Given the description of an element on the screen output the (x, y) to click on. 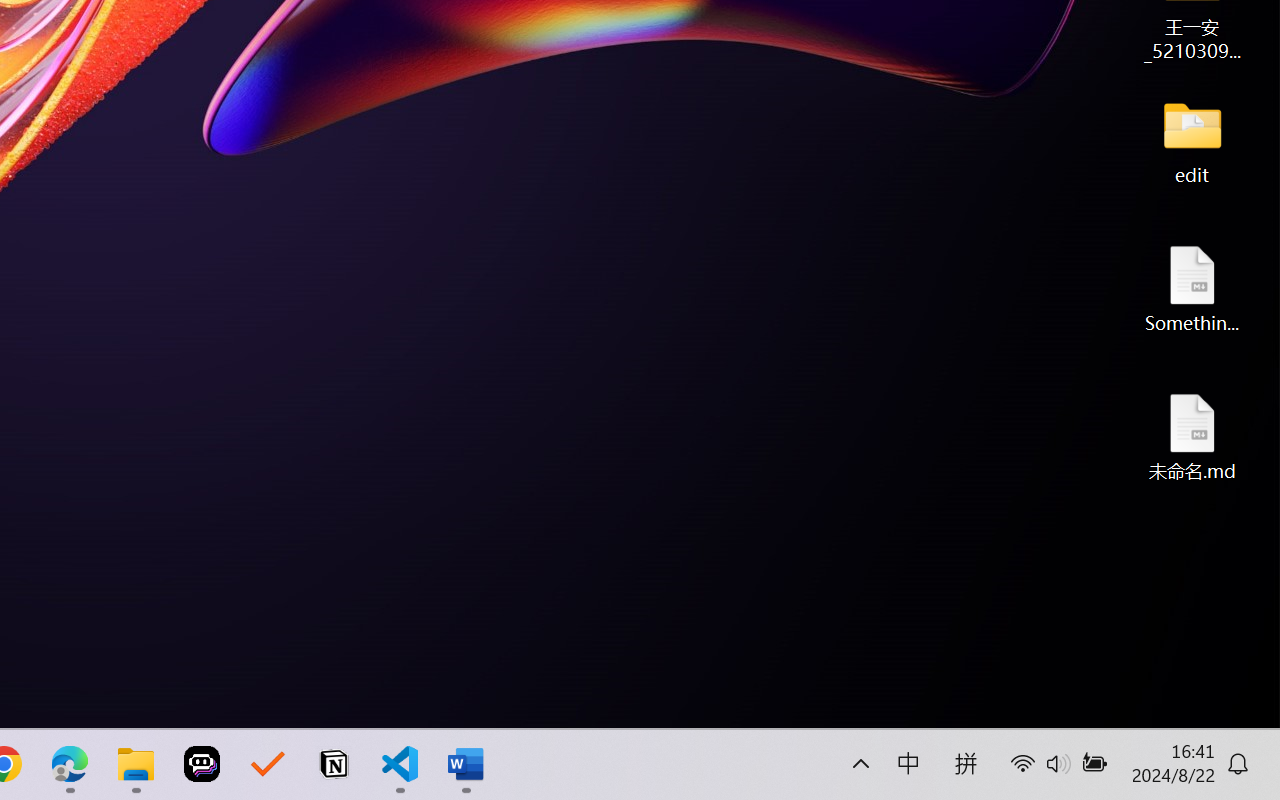
Something.md (1192, 288)
edit (1192, 140)
